Given the description of an element on the screen output the (x, y) to click on. 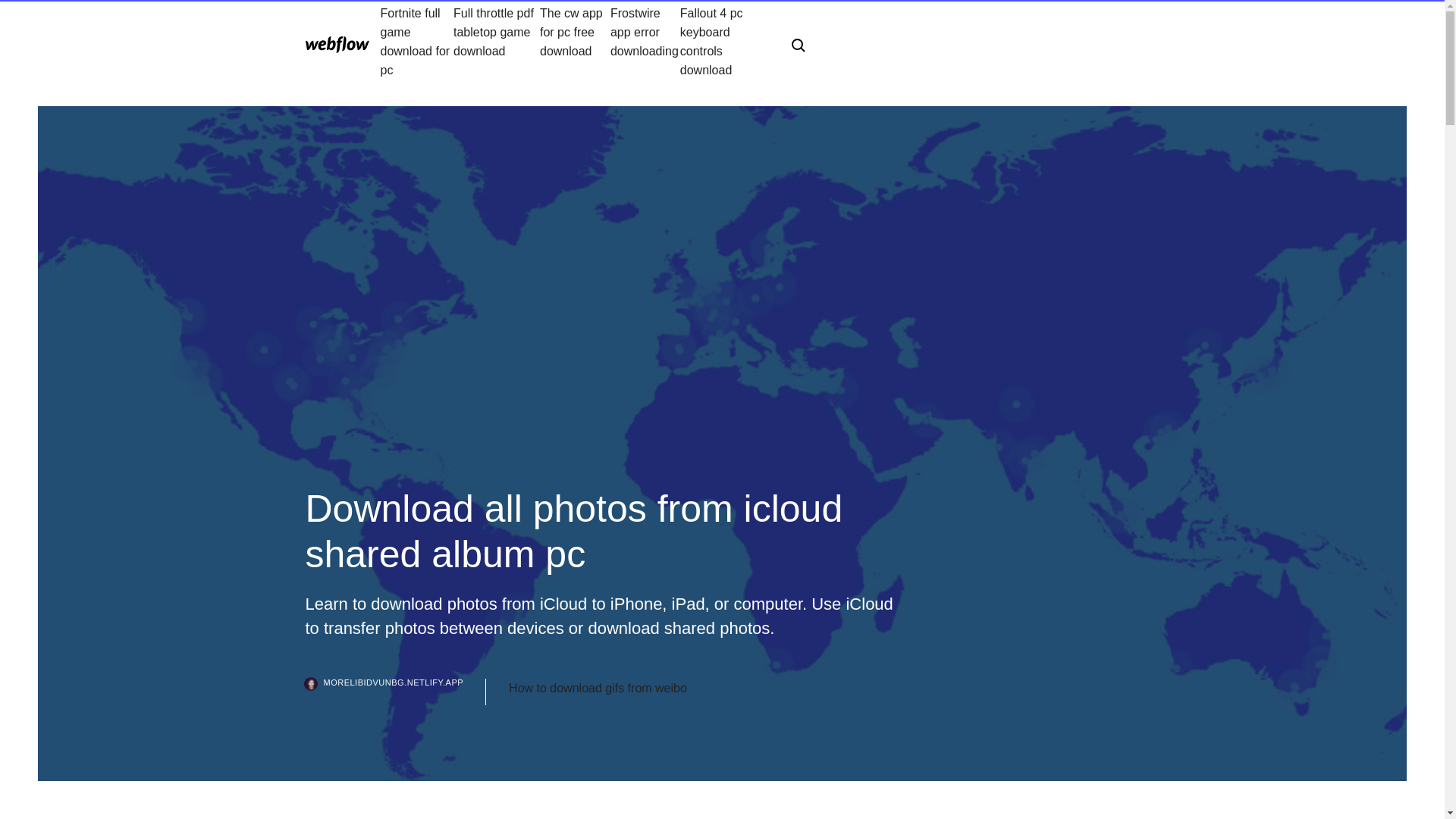
Full throttle pdf tabletop game download (496, 41)
The cw app for pc free download (575, 41)
How to download gifs from weibo (597, 687)
Frostwire app error downloading (644, 41)
MORELIBIDVUNBG.NETLIFY.APP (395, 691)
Fallout 4 pc keyboard controls download (723, 41)
Fortnite full game download for pc (417, 41)
